Given the description of an element on the screen output the (x, y) to click on. 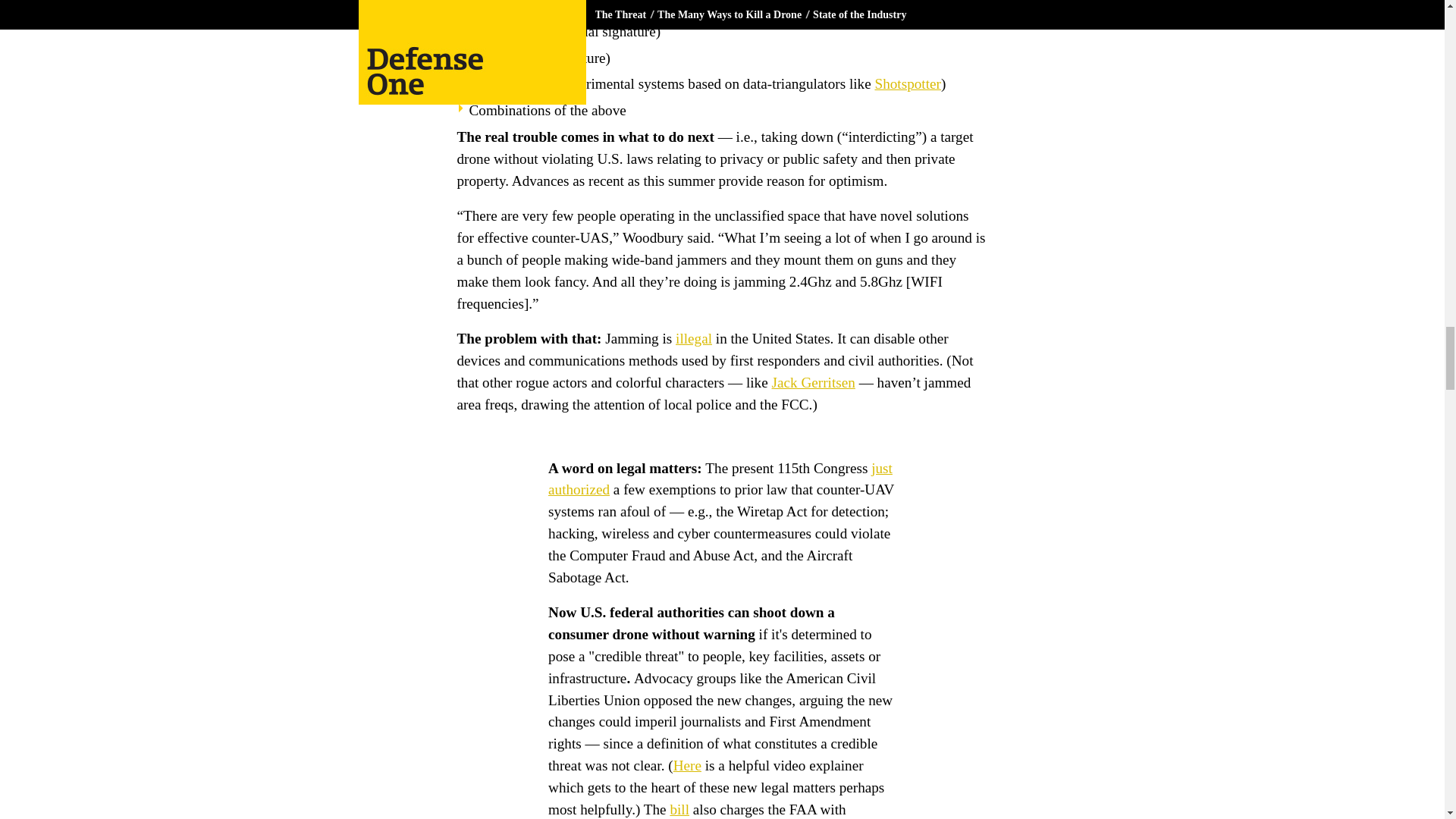
just authorized (720, 478)
Shotspotter (907, 83)
Jack Gerritsen (813, 382)
bill (678, 808)
Aeroscope (626, 6)
illegal (693, 338)
Here (686, 765)
